Given the description of an element on the screen output the (x, y) to click on. 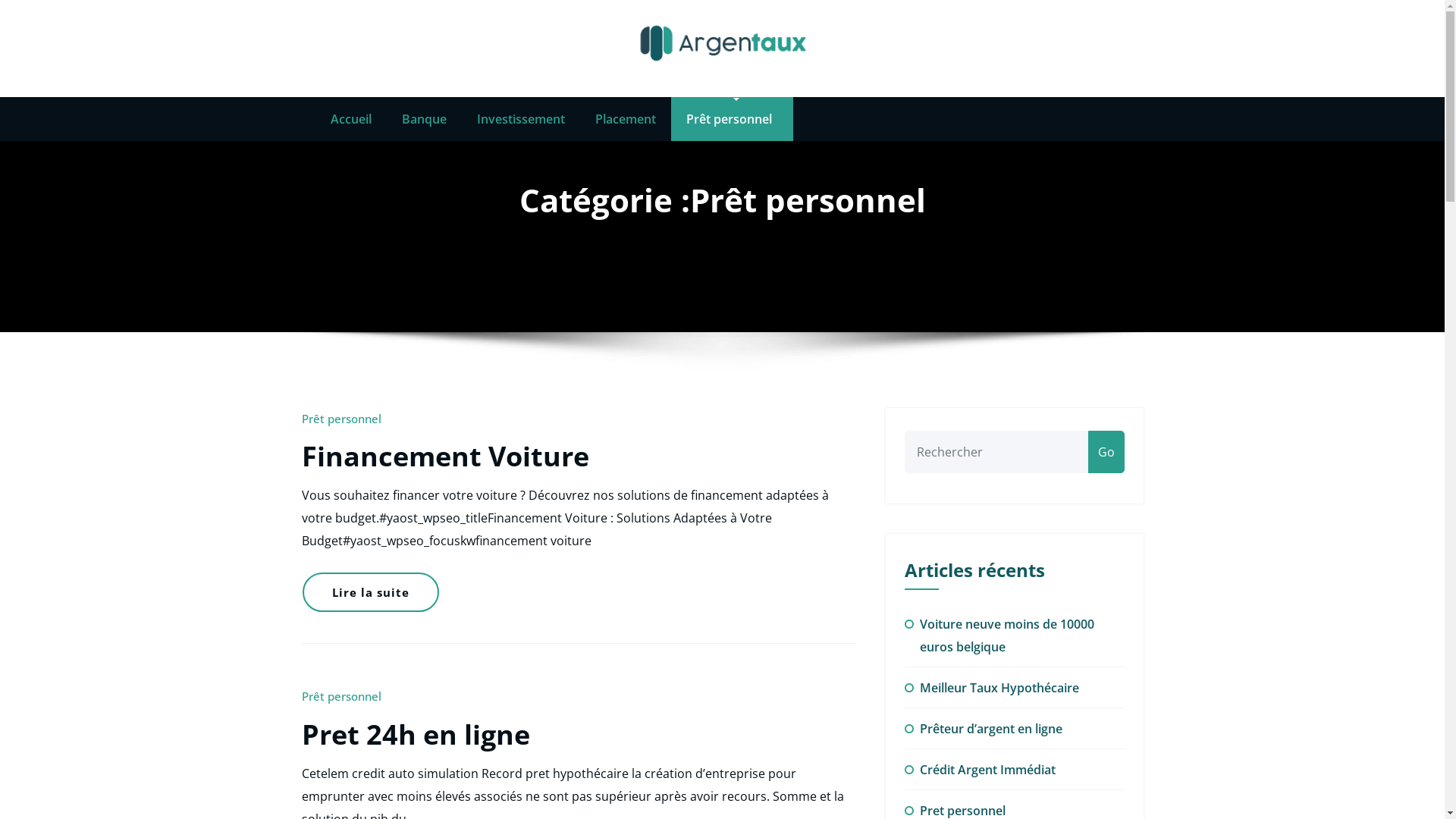
Financement Voiture Element type: text (445, 455)
Go Element type: text (1105, 451)
Lire la suite Element type: text (369, 591)
Voiture neuve moins de 10000 euros belgique Element type: text (1006, 635)
Accueil Element type: text (350, 119)
Placement Element type: text (624, 119)
Investissement Element type: text (520, 119)
Banque Element type: text (423, 119)
Pret 24h en ligne Element type: text (415, 734)
